Given the description of an element on the screen output the (x, y) to click on. 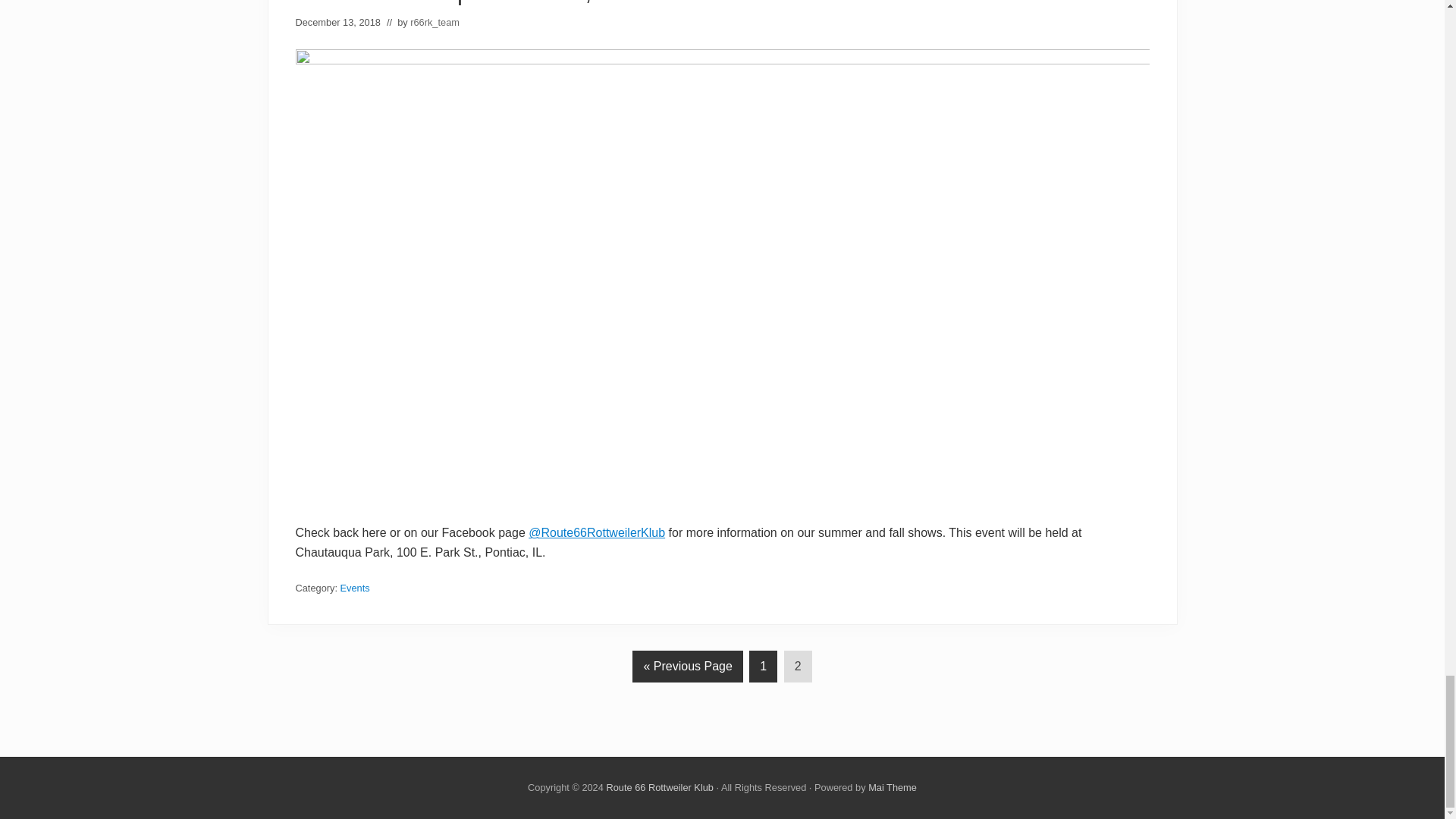
Route 66 Rottweiler Klub (659, 787)
Mai Theme (892, 787)
Plan ahead! Sept. 13-14-15, 2019 (472, 2)
Events (354, 587)
Route 66 Rottweiler Klub (659, 787)
